Given the description of an element on the screen output the (x, y) to click on. 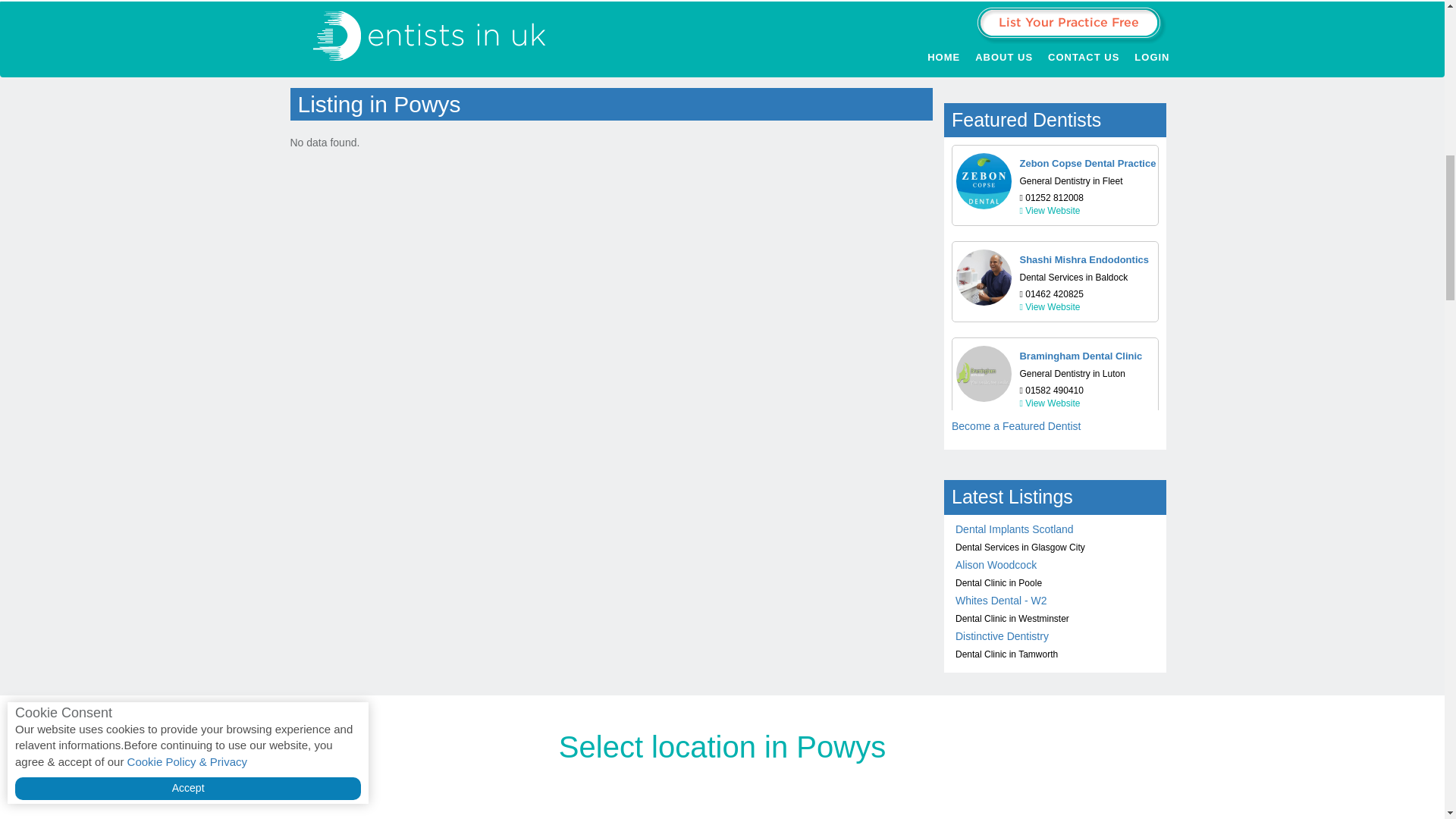
Become a Featured Dentist (1016, 426)
Zebon Copse Dental Practice (1087, 163)
View Website (1049, 307)
Advertisement (721, 24)
Shashi Mishra Endodontics (1083, 259)
Dental Implants Scotland (1014, 529)
View Website (1049, 210)
Whites Dental - W2 (1000, 600)
Distinctive Dentistry (1001, 635)
Bramingham Dental Clinic (1080, 355)
Alison Woodcock (995, 564)
View Website (1049, 403)
